Given the description of an element on the screen output the (x, y) to click on. 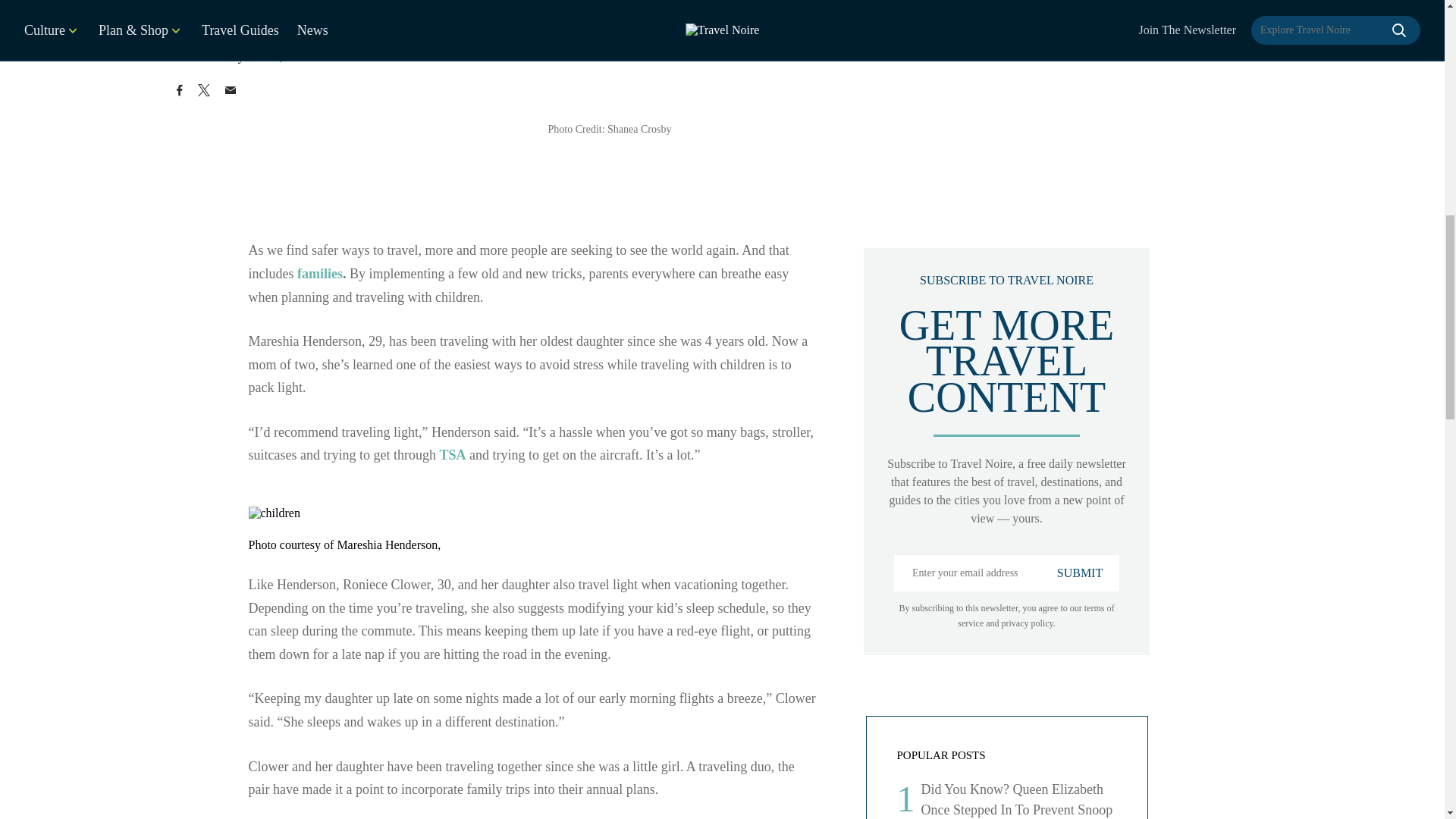
Jasmine Osby (209, 56)
TSA (452, 454)
SUBMIT (1079, 573)
Jasmine Osby (209, 56)
families (319, 273)
